Given the description of an element on the screen output the (x, y) to click on. 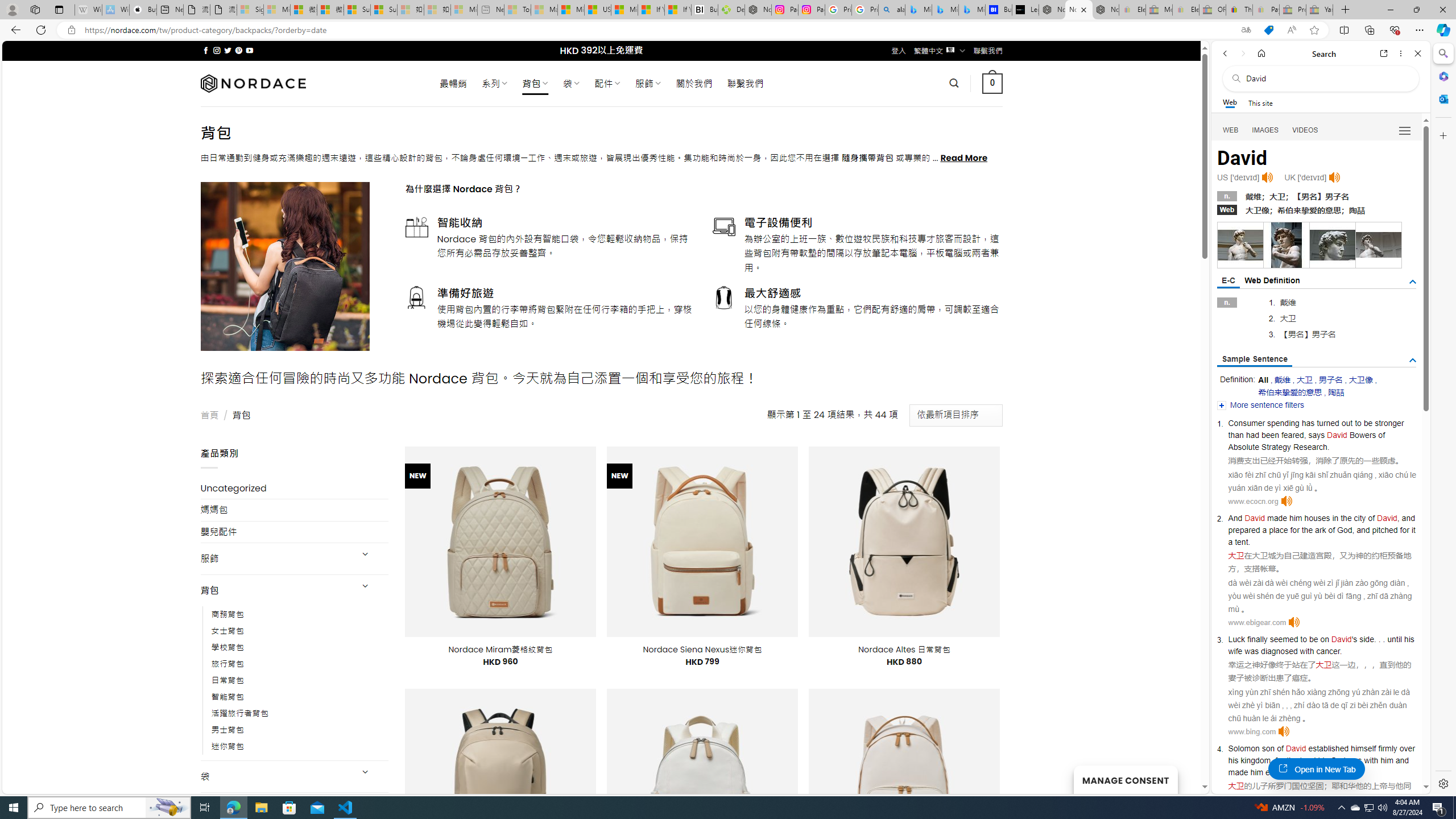
place (1278, 529)
kingdom (1255, 759)
Lord (1308, 759)
Microsoft Services Agreement - Sleeping (277, 9)
made (1237, 772)
